Given the description of an element on the screen output the (x, y) to click on. 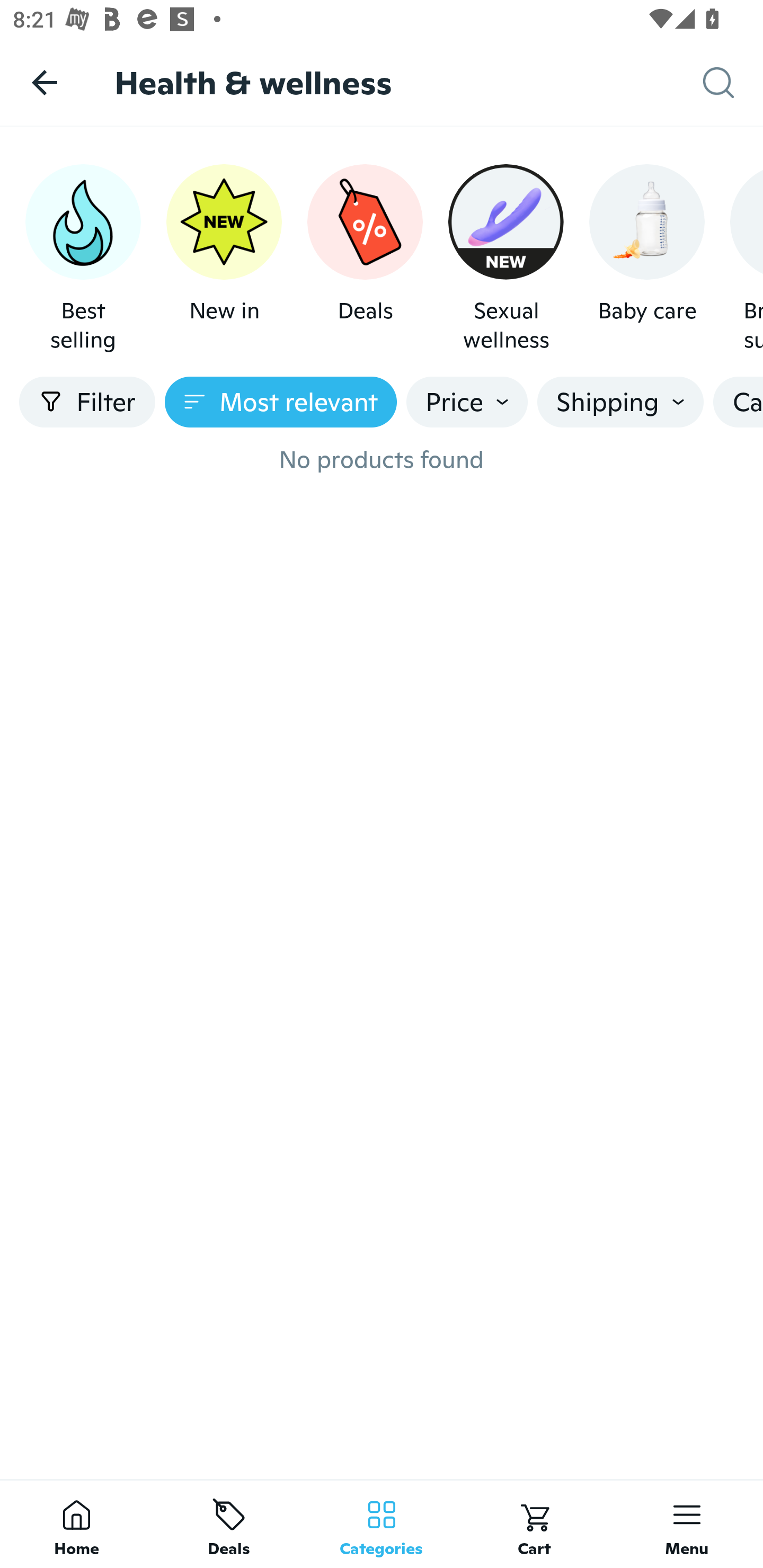
Navigate up (44, 82)
Search (732, 82)
Best selling (83, 259)
New in (223, 259)
Deals (364, 259)
Sexual wellness (505, 259)
Baby care (647, 259)
Filter (86, 402)
Most relevant (280, 402)
Price (466, 402)
Shipping (620, 402)
Home (76, 1523)
Deals (228, 1523)
Categories (381, 1523)
Cart (533, 1523)
Menu (686, 1523)
